Given the description of an element on the screen output the (x, y) to click on. 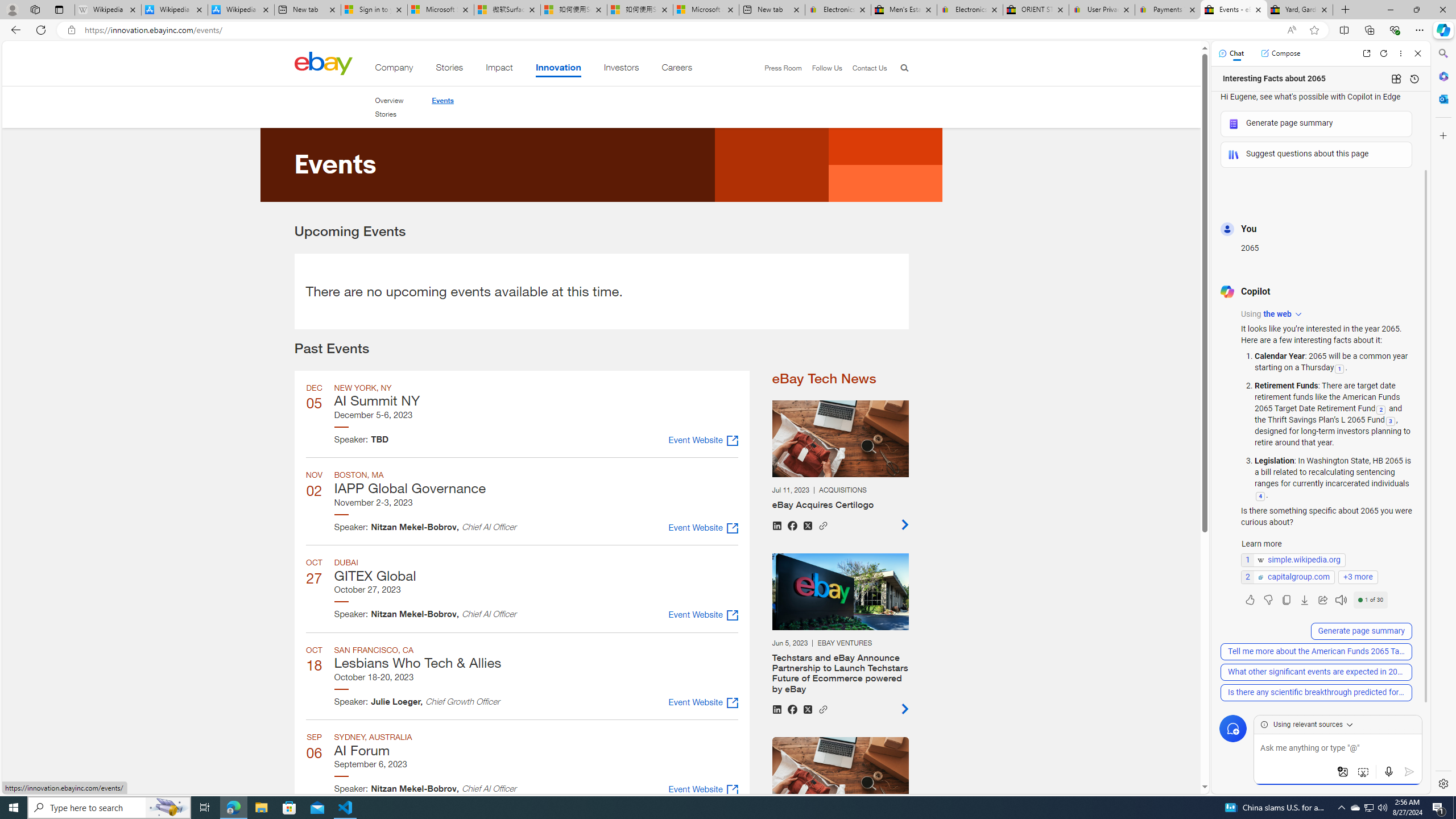
Impact (499, 69)
Copy link to clipboard (823, 707)
Innovation (557, 69)
Chat (1231, 52)
Microsoft account | Account Checkup (706, 9)
